Given the description of an element on the screen output the (x, y) to click on. 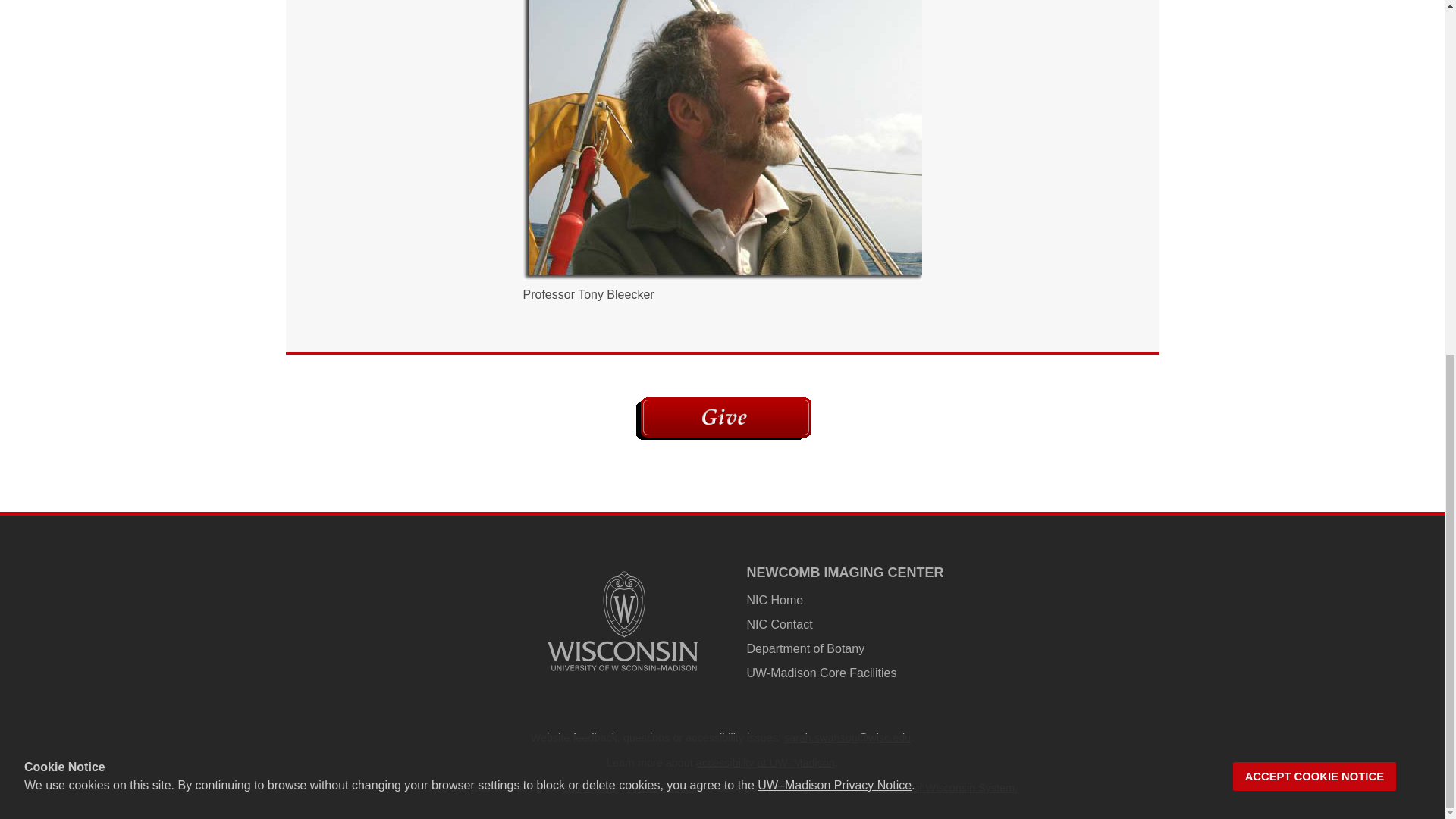
University logo that links to main university website (621, 673)
ACCEPT COOKIE NOTICE (1314, 155)
NIC Contact (778, 624)
Department of Botany (804, 648)
NIC Home (774, 599)
UW-Madison Core Facilities (820, 672)
University of Wisconsin System. (939, 787)
University logo that links to main university website (621, 621)
UW Theme (590, 787)
Privacy Notice (662, 787)
